Given the description of an element on the screen output the (x, y) to click on. 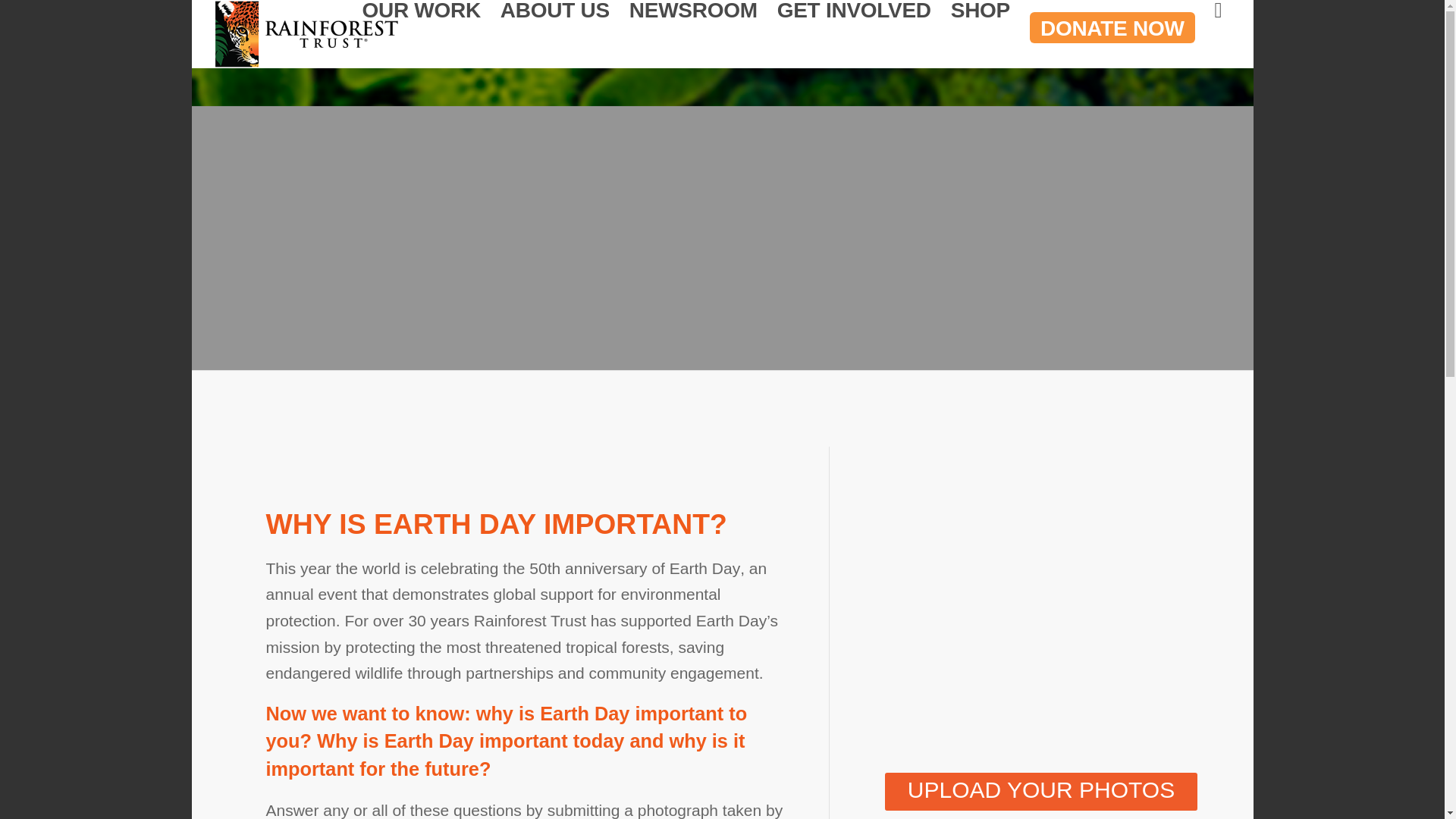
NEWSROOM (693, 33)
GET INVOLVED (853, 33)
ABOUT US (555, 33)
SHOP (980, 33)
OUR WORK (420, 33)
